Given the description of an element on the screen output the (x, y) to click on. 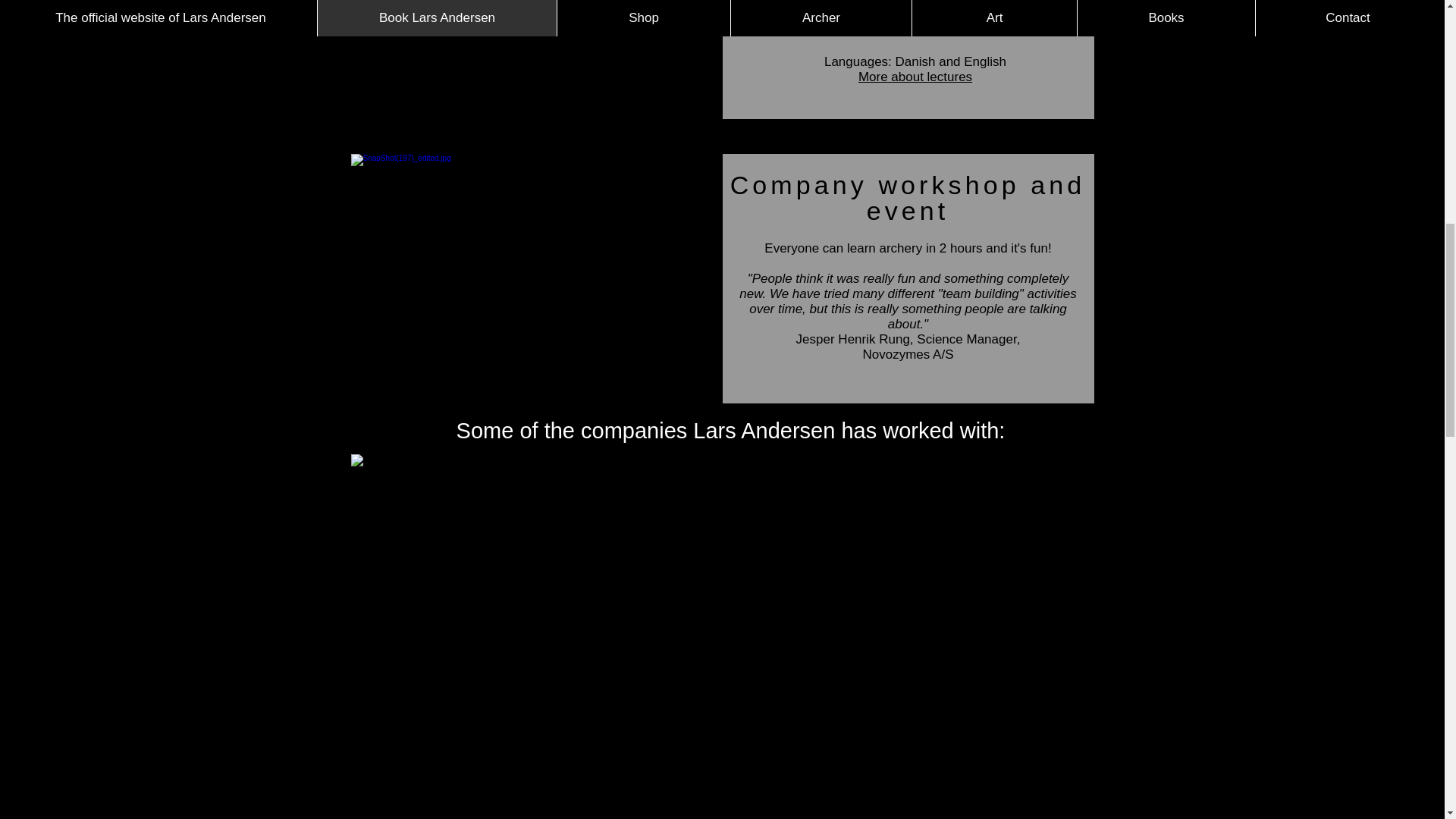
More about lectures (915, 76)
External YouTube (721, 783)
aabillede.JPG (536, 40)
